Given the description of an element on the screen output the (x, y) to click on. 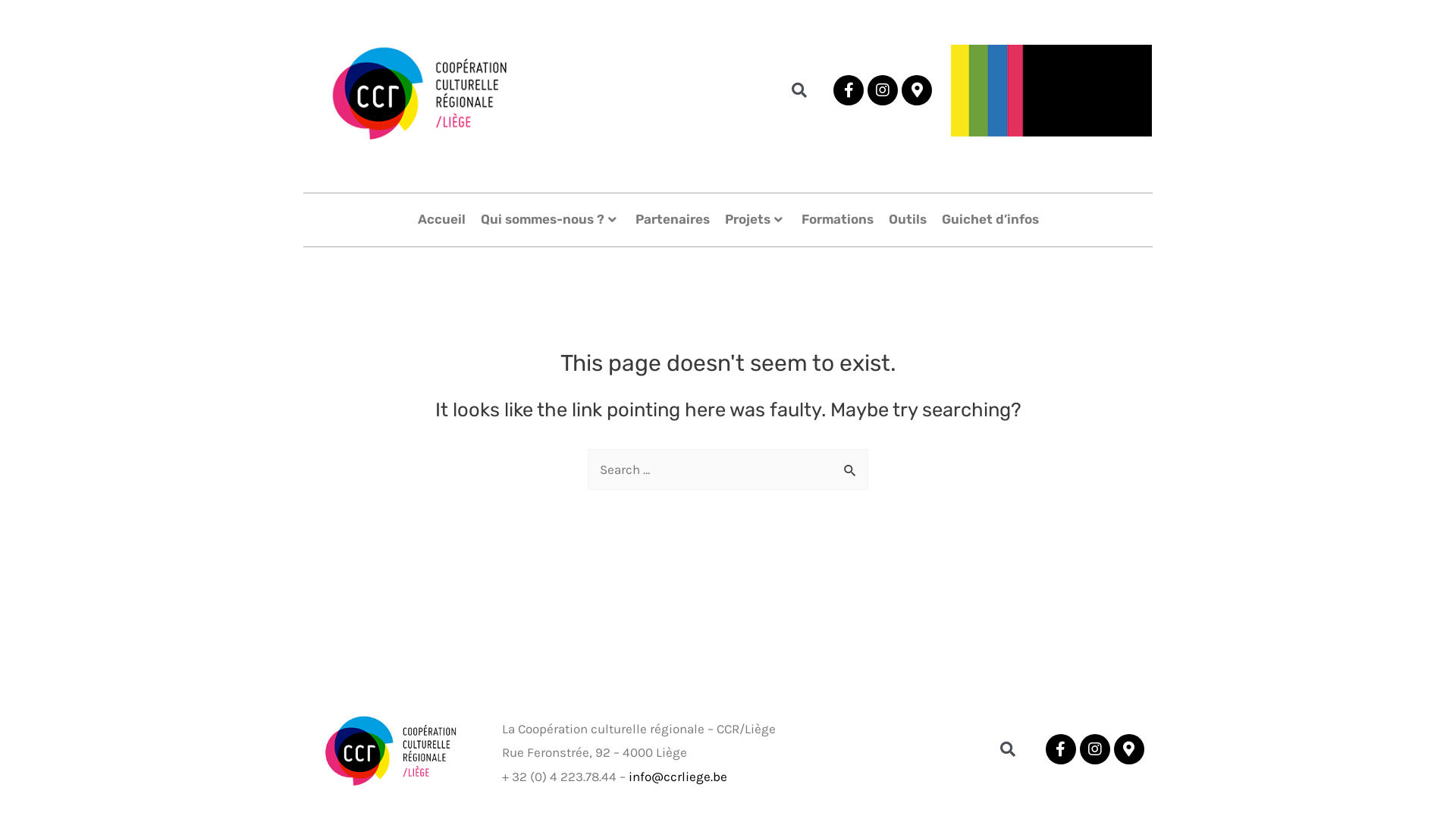
Search Element type: hover (1003, 749)
Accueil Element type: text (440, 219)
Partenaires Element type: text (672, 219)
Outils Element type: text (907, 219)
info@ccrliege.be Element type: text (677, 776)
Formations Element type: text (836, 219)
Search Element type: hover (795, 90)
Search Element type: text (851, 464)
Qui sommes-nous ? Element type: text (550, 219)
Projets Element type: text (755, 219)
